Given the description of an element on the screen output the (x, y) to click on. 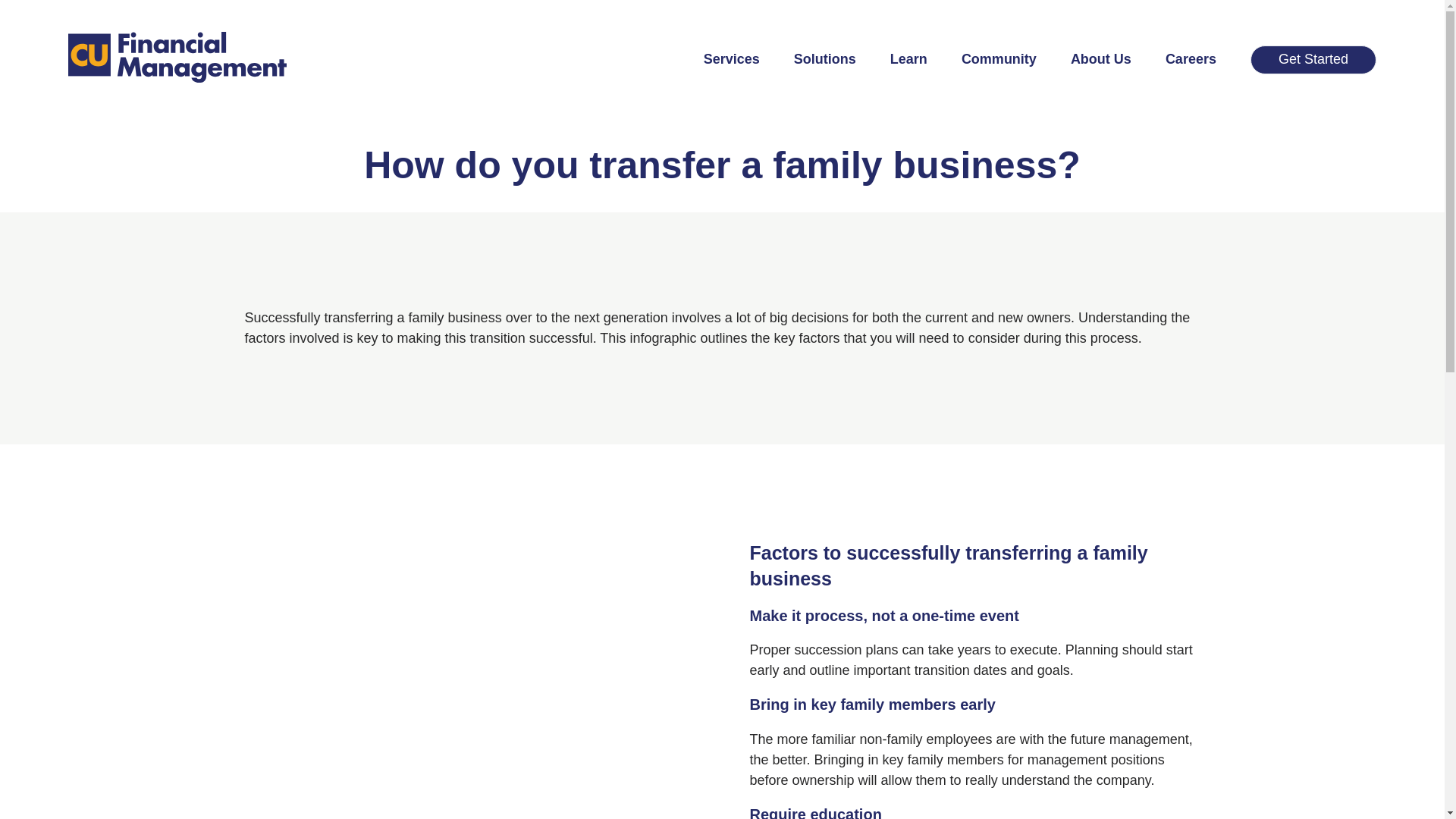
Community (998, 58)
About Us (1100, 58)
Services (731, 58)
Home (177, 56)
Learn (908, 58)
Careers (1190, 58)
Solutions (824, 58)
Get Started (1312, 59)
